Given the description of an element on the screen output the (x, y) to click on. 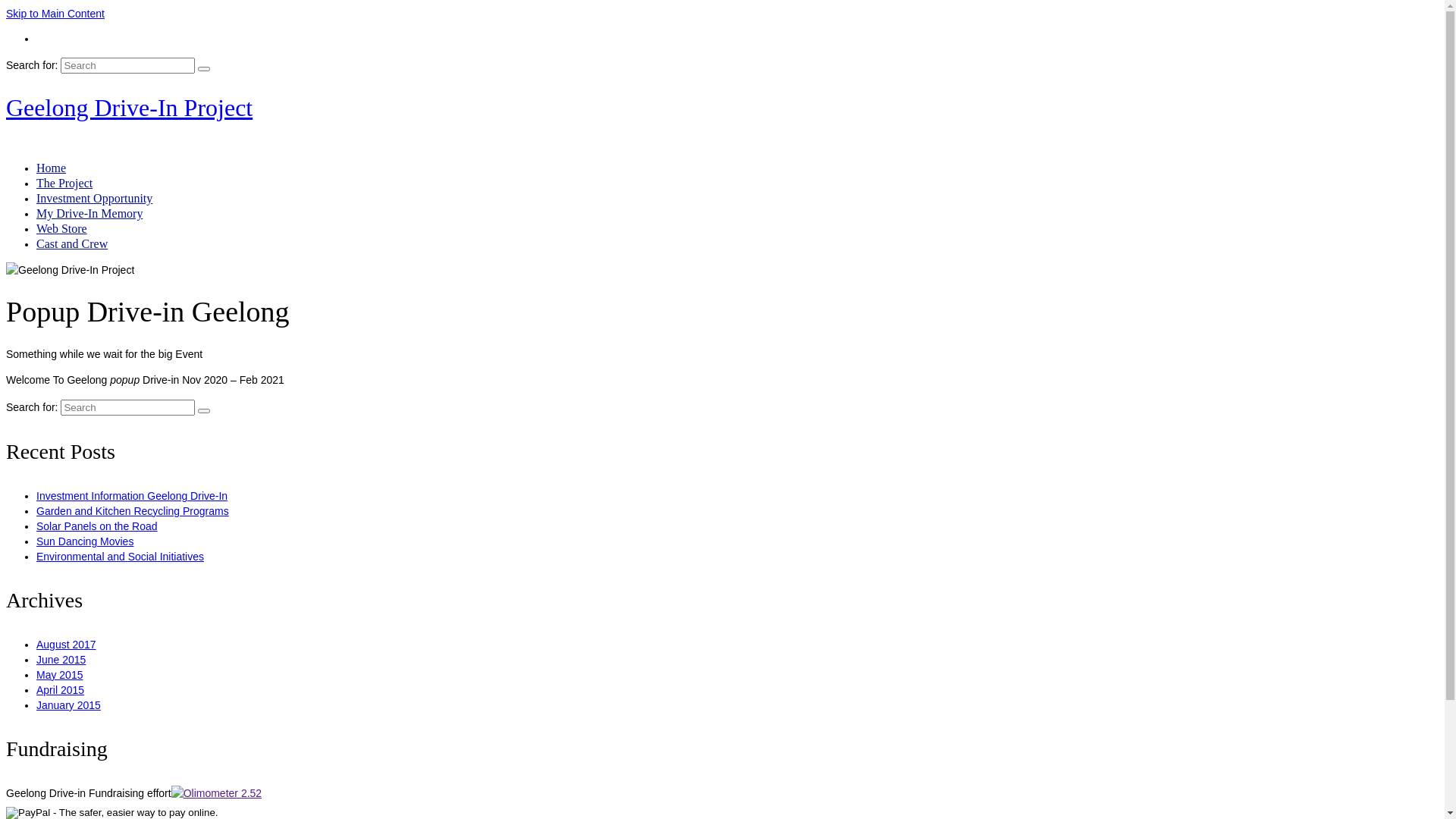
June 2015 Element type: text (60, 659)
The Project Element type: text (64, 182)
Garden and Kitchen Recycling Programs Element type: text (132, 511)
August 2017 Element type: text (66, 644)
May 2015 Element type: text (59, 674)
Cast and Crew Element type: text (71, 243)
Investment Information Geelong Drive-In Element type: text (131, 495)
Web Store Element type: text (61, 228)
Environmental and Social Initiatives Element type: text (119, 556)
Skip to Main Content Element type: text (55, 13)
January 2015 Element type: text (68, 705)
Investment Opportunity Element type: text (94, 197)
Geelong Drive-In Project Element type: text (129, 107)
Home Element type: text (50, 167)
April 2015 Element type: text (60, 690)
My Drive-In Memory Element type: text (89, 213)
Solar Panels on the Road Element type: text (96, 526)
Sun Dancing Movies Element type: text (84, 541)
